Given the description of an element on the screen output the (x, y) to click on. 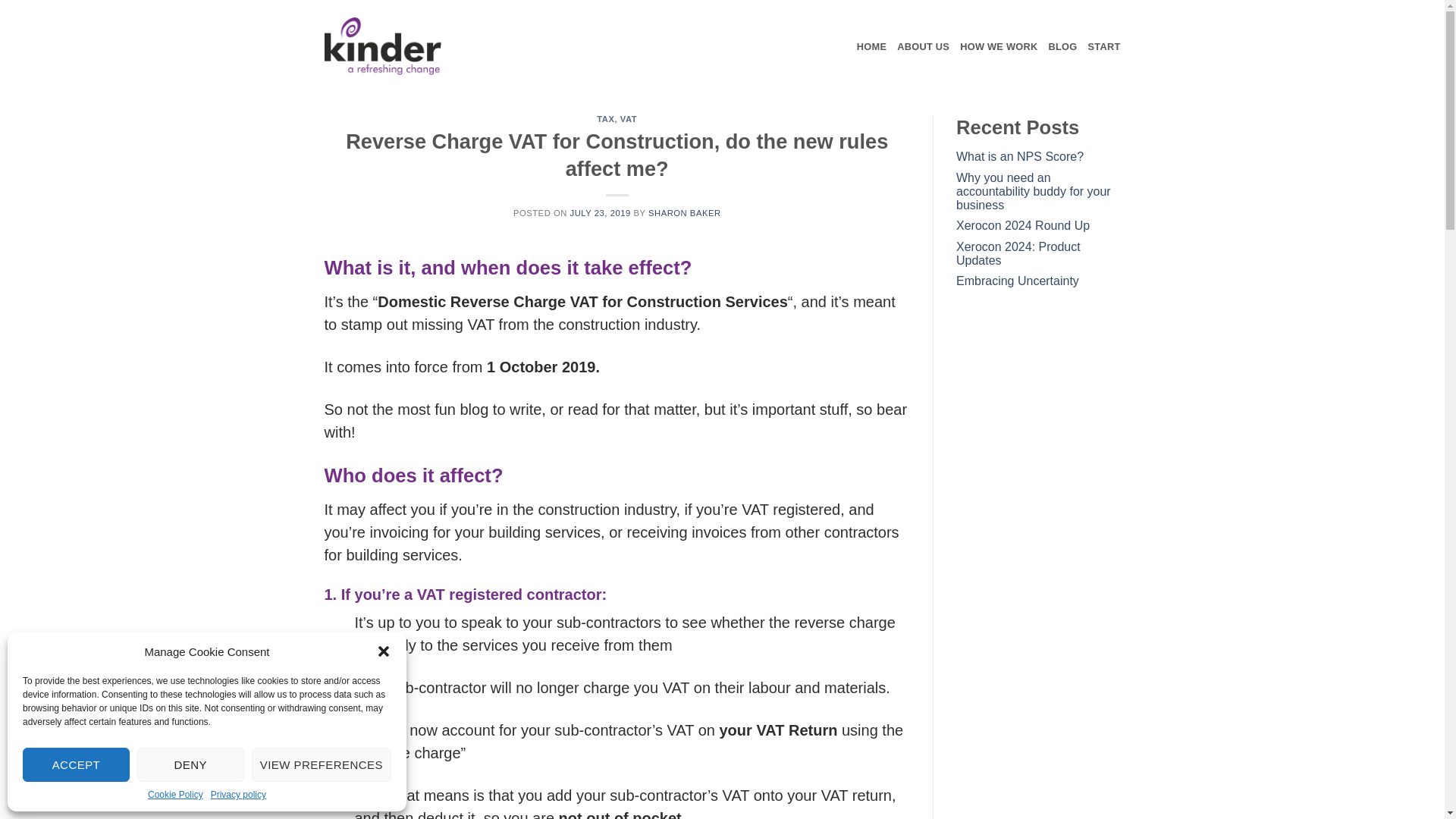
Privacy policy (238, 794)
BLOG (1062, 46)
Cookie Policy (175, 794)
ACCEPT (76, 764)
HOW WE WORK (997, 46)
START (1104, 46)
JULY 23, 2019 (600, 212)
VIEW PREFERENCES (321, 764)
ABOUT US (922, 46)
SHARON BAKER (683, 212)
HOME (871, 46)
VAT (628, 118)
DENY (190, 764)
TAX (605, 118)
